Given the description of an element on the screen output the (x, y) to click on. 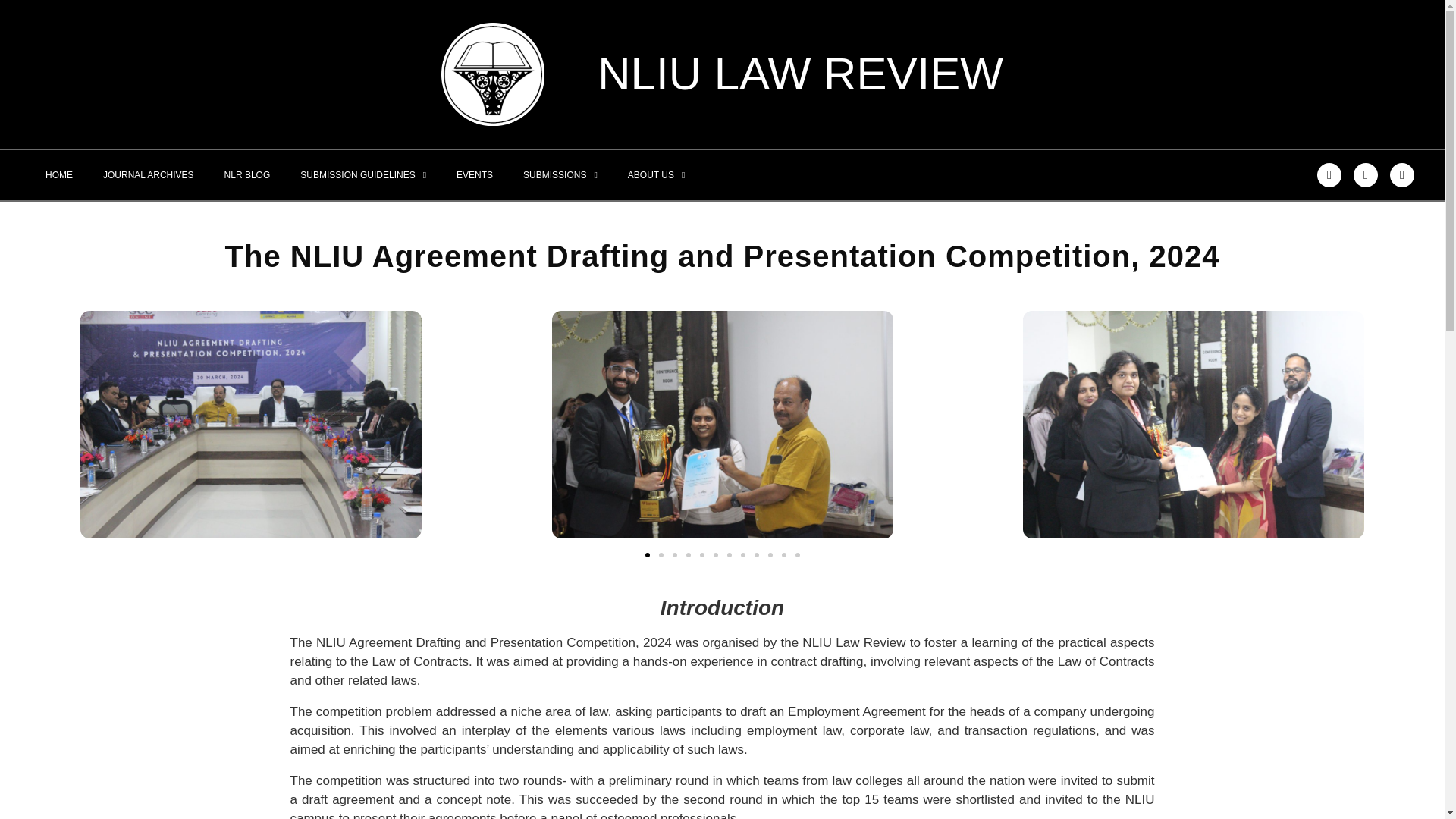
HOME (58, 175)
JOURNAL ARCHIVES (148, 175)
NLR BLOG (247, 175)
ABOUT US (656, 175)
SUBMISSION GUIDELINES (363, 175)
SUBMISSIONS (560, 175)
EVENTS (474, 175)
